Given the description of an element on the screen output the (x, y) to click on. 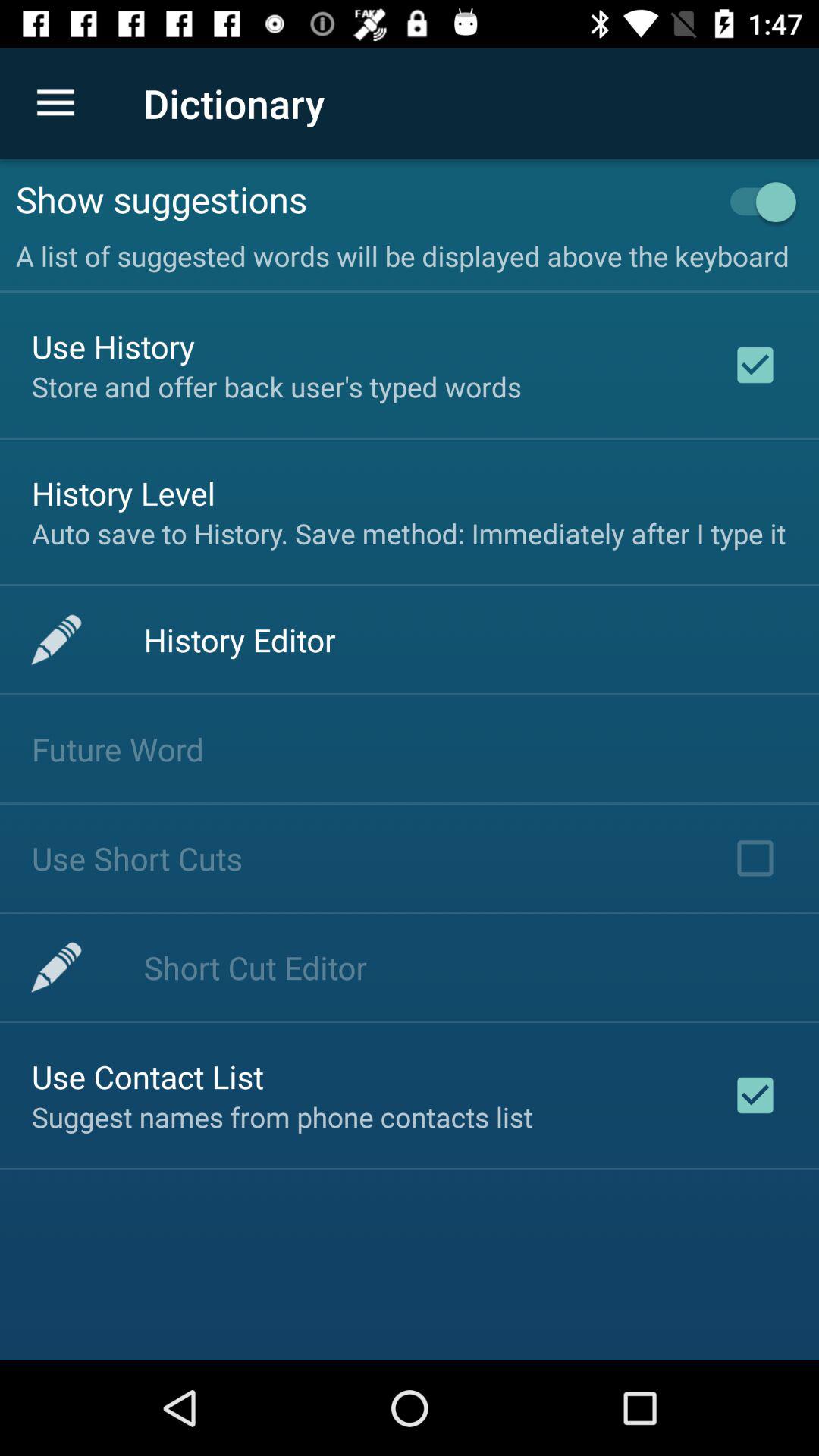
launch icon below the store and offer item (123, 492)
